Given the description of an element on the screen output the (x, y) to click on. 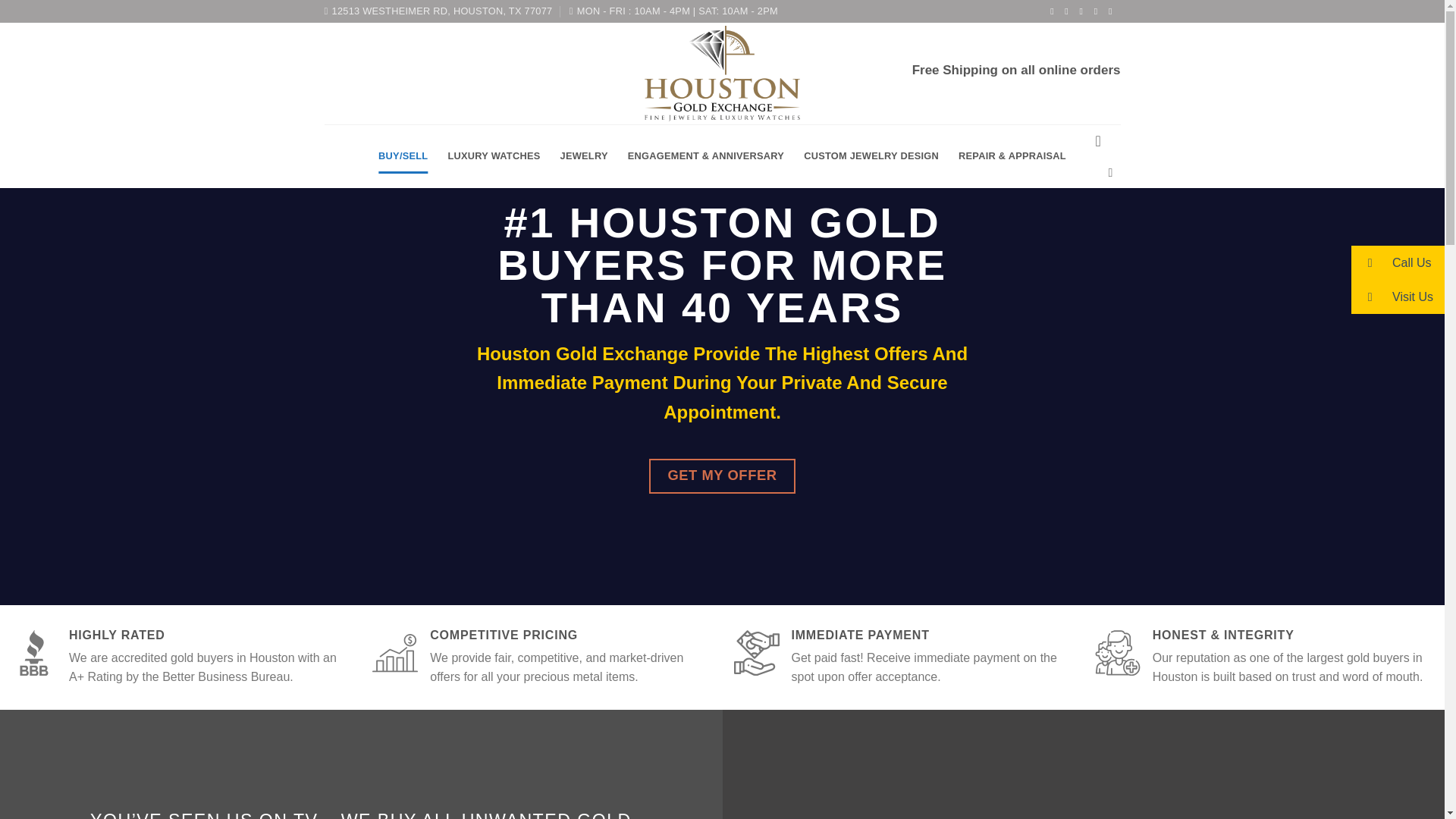
Houston Gold Exchange (721, 73)
12513 WESTHEIMER RD, HOUSTON, TX 77077 (438, 11)
JEWELRY (584, 155)
12513 Westheimer Rd. Houston, TX 77077 (438, 11)
LUXURY WATCHES (493, 155)
